Given the description of an element on the screen output the (x, y) to click on. 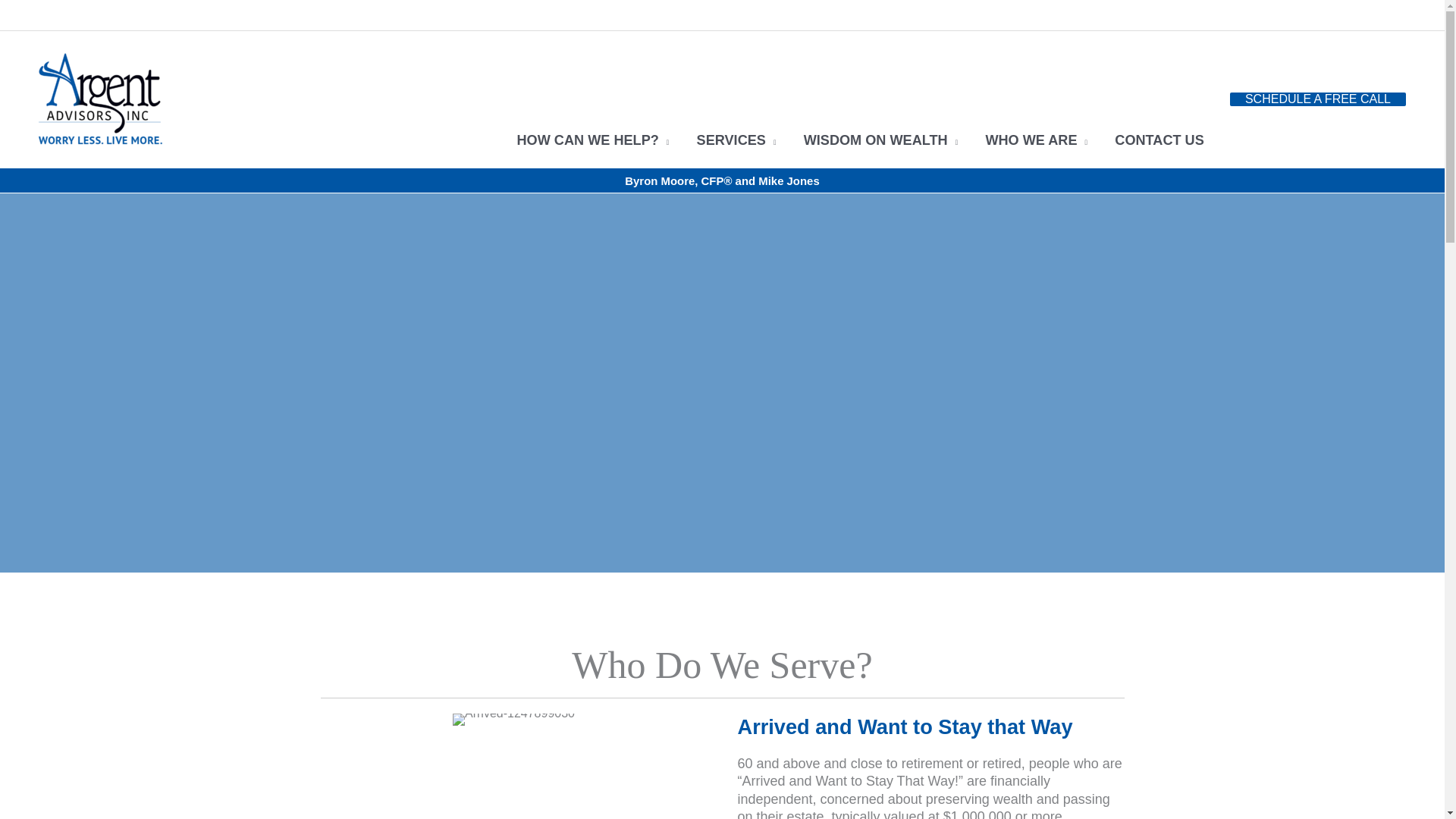
SCHEDULE A FREE CALL (1318, 99)
CLIENT LOGIN (1355, 15)
WISDOM ON WEALTH (881, 99)
HOW CAN WE HELP? (592, 99)
WHO WE ARE (1035, 99)
Arrived-1247899030 (513, 719)
